Given the description of an element on the screen output the (x, y) to click on. 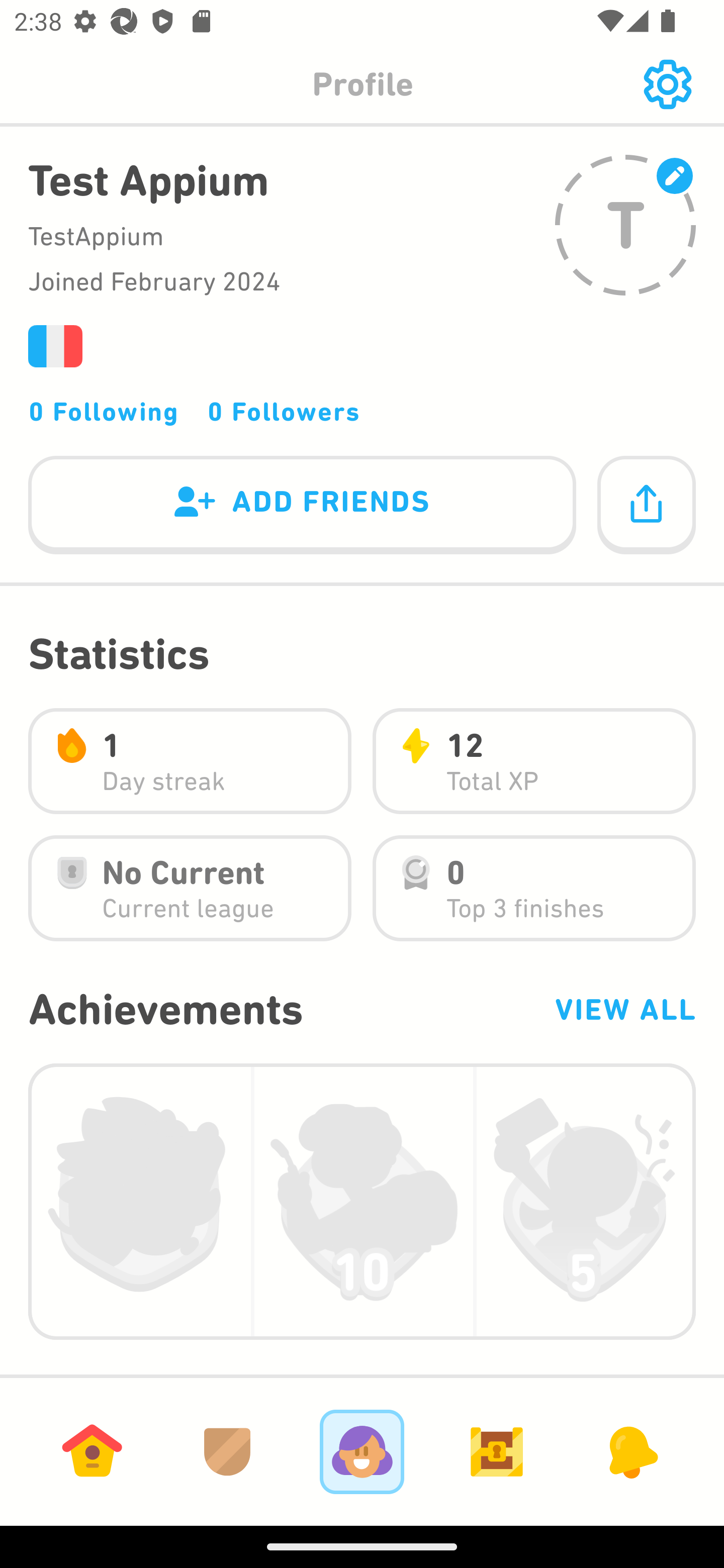
Settings (667, 84)
0 Following (103, 411)
0 Followers (283, 411)
ADD FRIENDS (302, 505)
1 Day streak (189, 760)
VIEW ALL (624, 1009)
Learn Tab (91, 1451)
Leagues Tab (227, 1451)
Profile Tab (361, 1451)
Goals Tab (496, 1451)
News Tab (631, 1451)
